Given the description of an element on the screen output the (x, y) to click on. 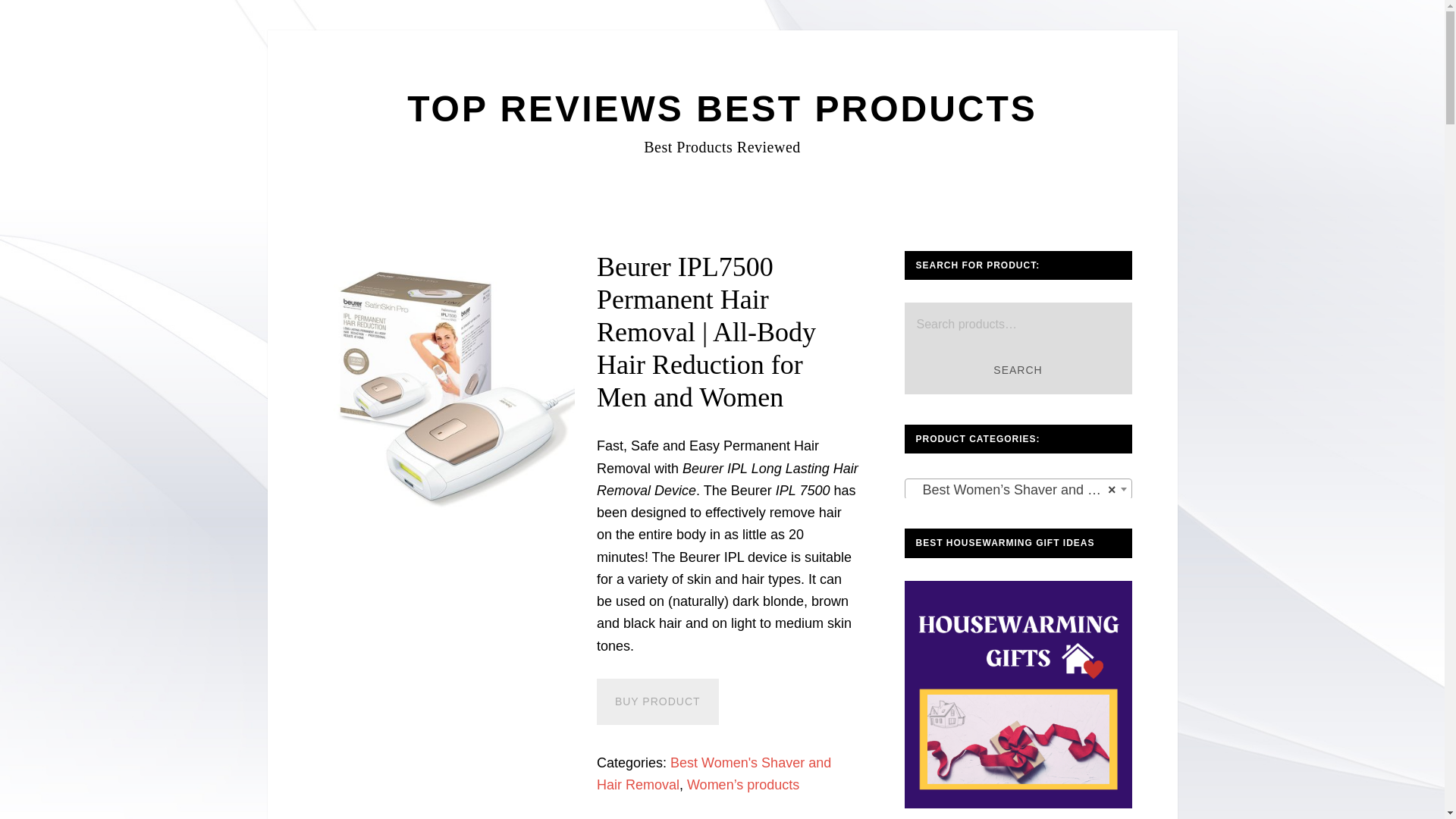
BUY PRODUCT (657, 701)
Best Women's Shaver and Hair Removal (713, 773)
TOP REVIEWS BEST PRODUCTS (721, 108)
SEARCH (1017, 369)
